Given the description of an element on the screen output the (x, y) to click on. 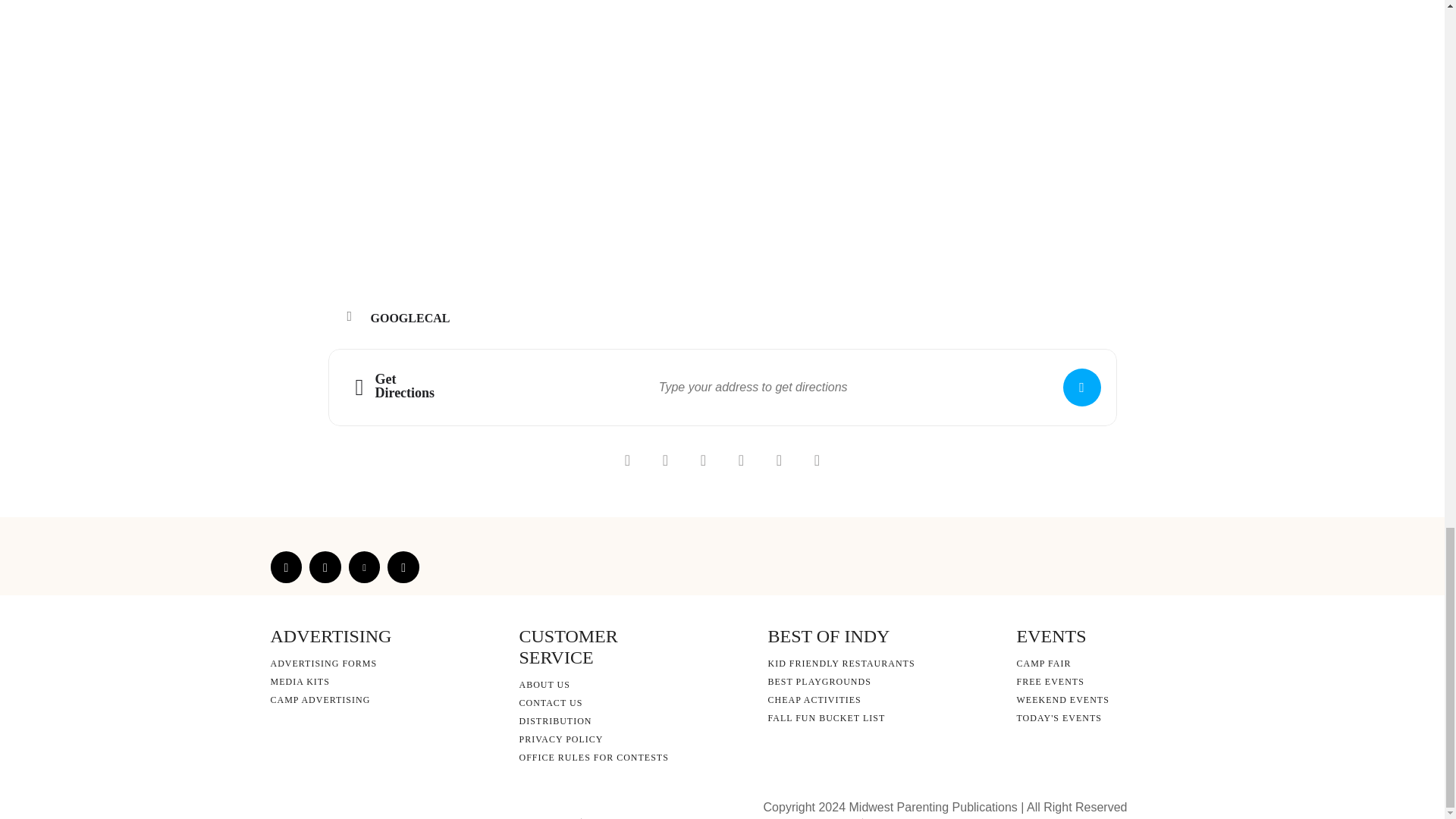
Pinterest (364, 567)
Share on facebook (627, 460)
Share on Pinterest (741, 460)
Add to google calendar (415, 318)
Twitter (403, 567)
Facebook (285, 567)
Share on Linkedin (703, 460)
Click here to get directions (1081, 387)
Instagram (324, 567)
Copy Link (778, 460)
Share on Twitter (665, 460)
